Given the description of an element on the screen output the (x, y) to click on. 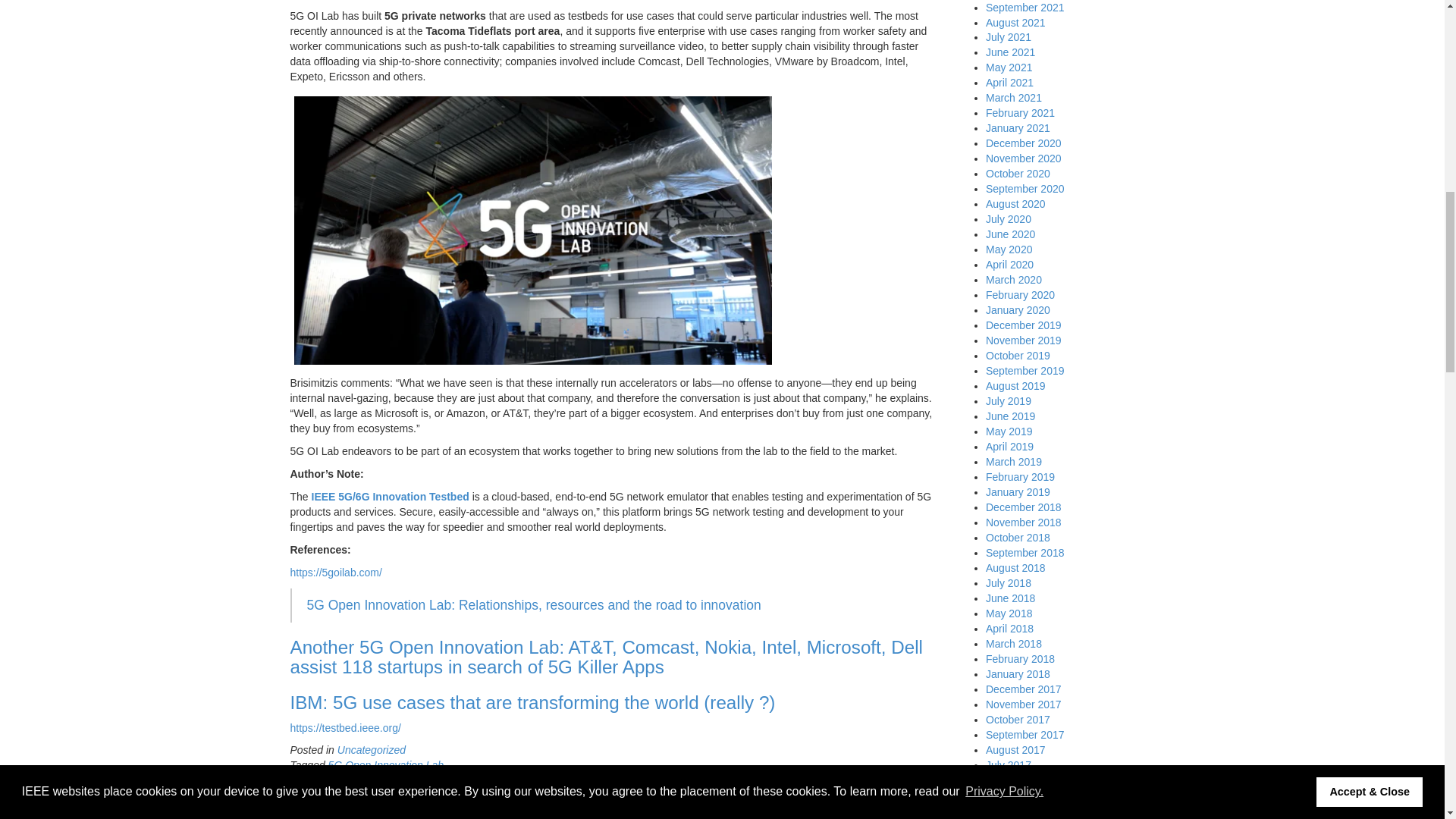
Uncategorized (371, 749)
5G Open Innovation Lab (386, 765)
